Given the description of an element on the screen output the (x, y) to click on. 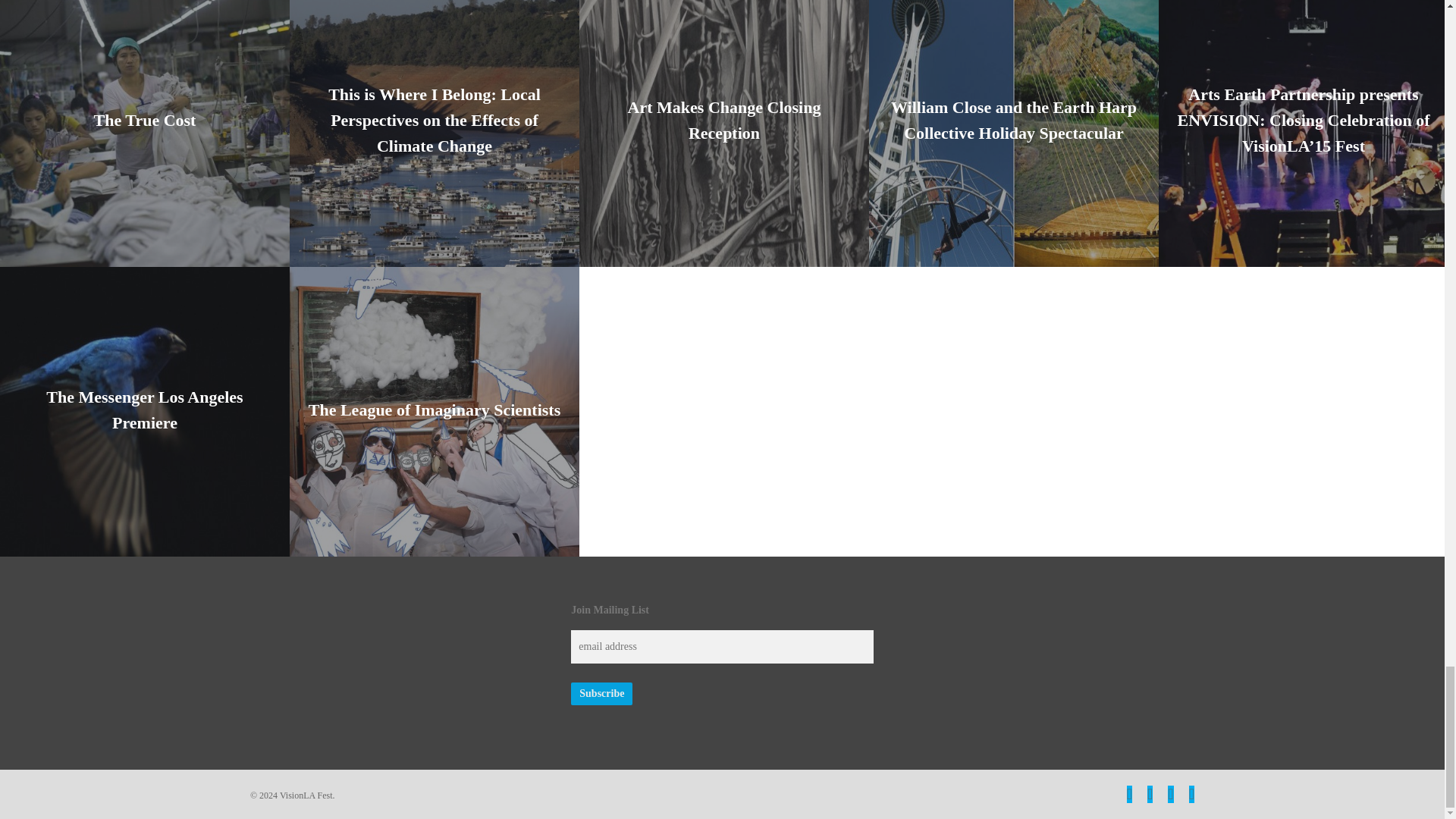
Subscribe (600, 693)
